Given the description of an element on the screen output the (x, y) to click on. 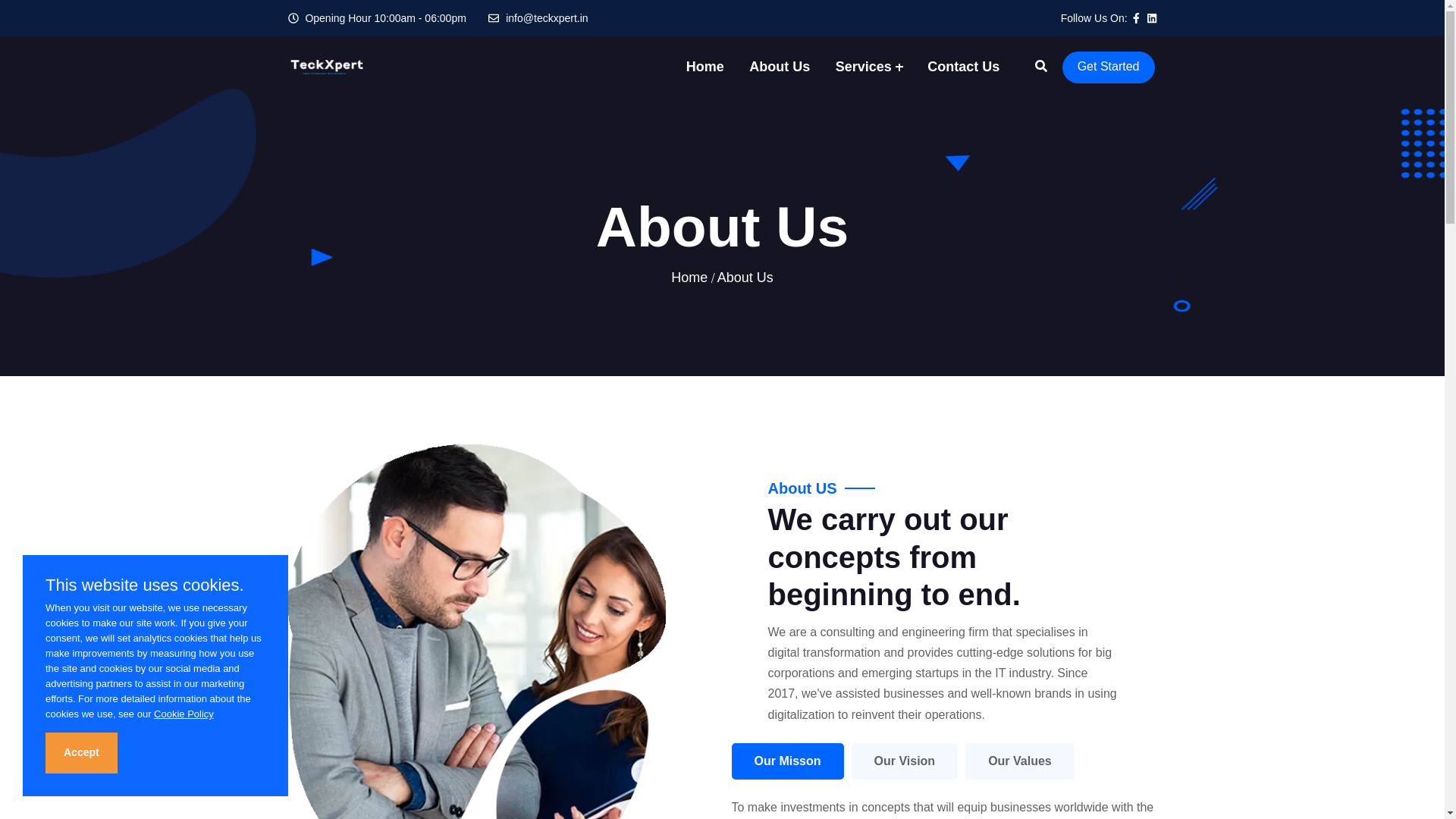
Our Vision (904, 760)
Get Started (1108, 67)
Home (689, 277)
Our Values (1019, 760)
Contact Us (962, 66)
Services (863, 66)
Our Misson (786, 760)
Home (704, 66)
About Us (779, 66)
